Given the description of an element on the screen output the (x, y) to click on. 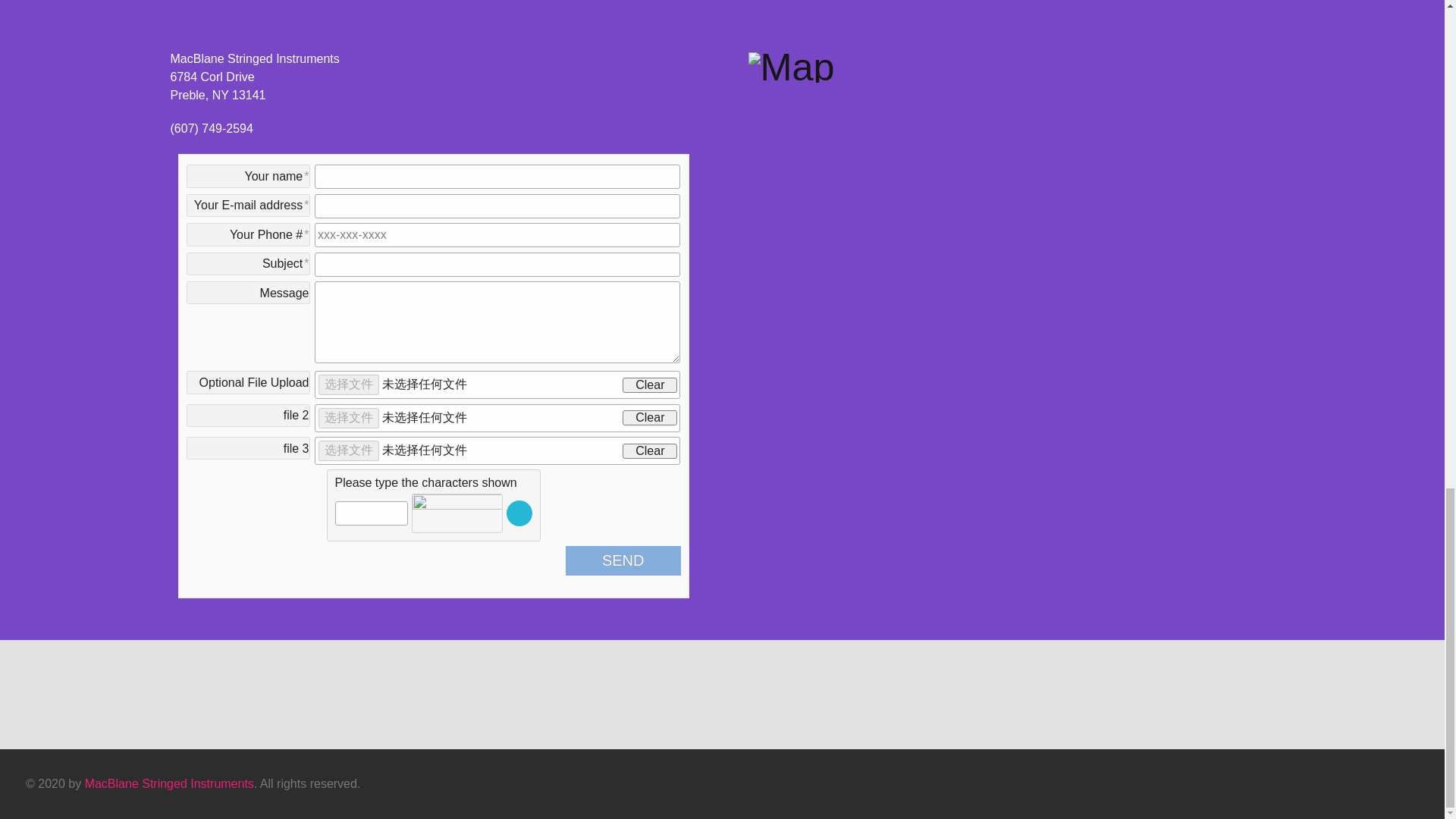
Clear (650, 385)
Map (791, 64)
Clear (650, 417)
Click to try a different image (519, 513)
SEND (623, 560)
Clear (650, 450)
MacBlane Stringed Instruments (168, 783)
MacBlane Stringed Instruments (168, 783)
